Given the description of an element on the screen output the (x, y) to click on. 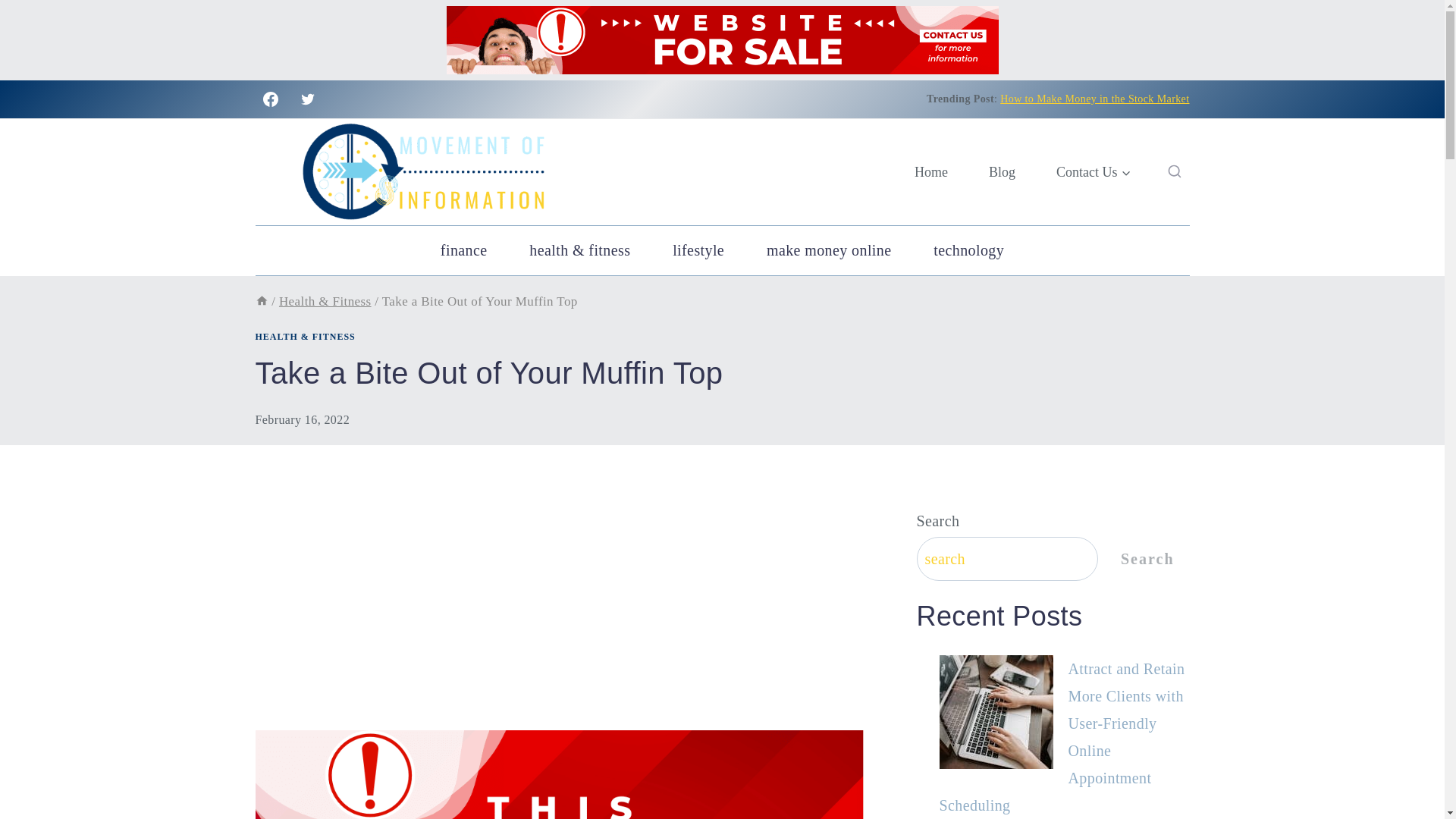
Advertisement (558, 617)
Blog (1001, 171)
make money online (828, 250)
finance (463, 250)
How to Make Money in the Stock Market (1094, 98)
Contact Us (1093, 171)
lifestyle (697, 250)
Home (260, 301)
Home (930, 171)
technology (968, 250)
